Given the description of an element on the screen output the (x, y) to click on. 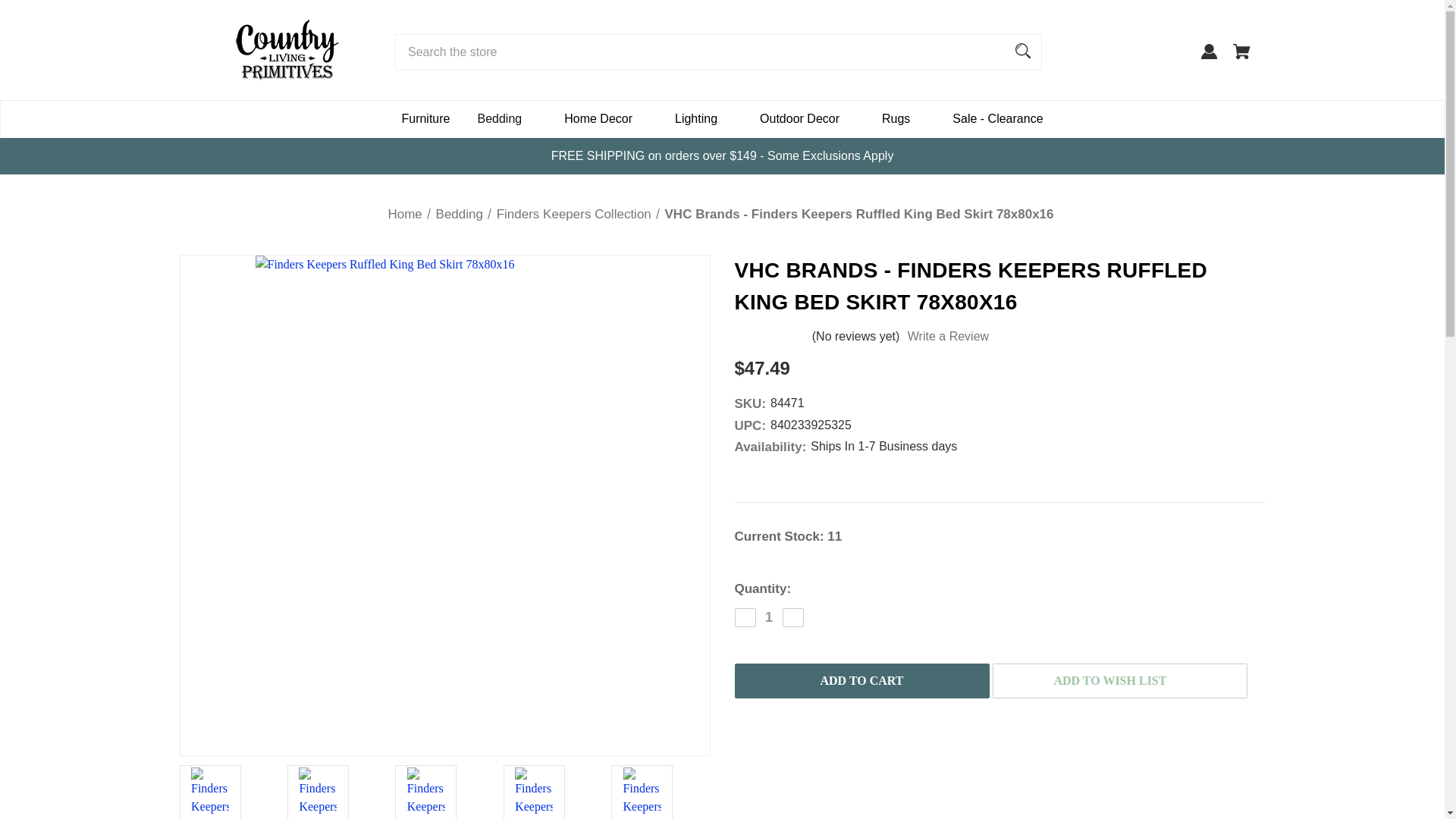
Magnifying glass image Large red circle with a black border (1023, 50)
CountryLivingPrimitives.com (286, 49)
Add to Cart (860, 680)
Magnifying glass image Large red circle with a black border (1022, 50)
Furniture (425, 118)
Home Decor (605, 118)
Product rating is 0 of 5 (771, 335)
Bedding (506, 118)
1 (768, 617)
